Given the description of an element on the screen output the (x, y) to click on. 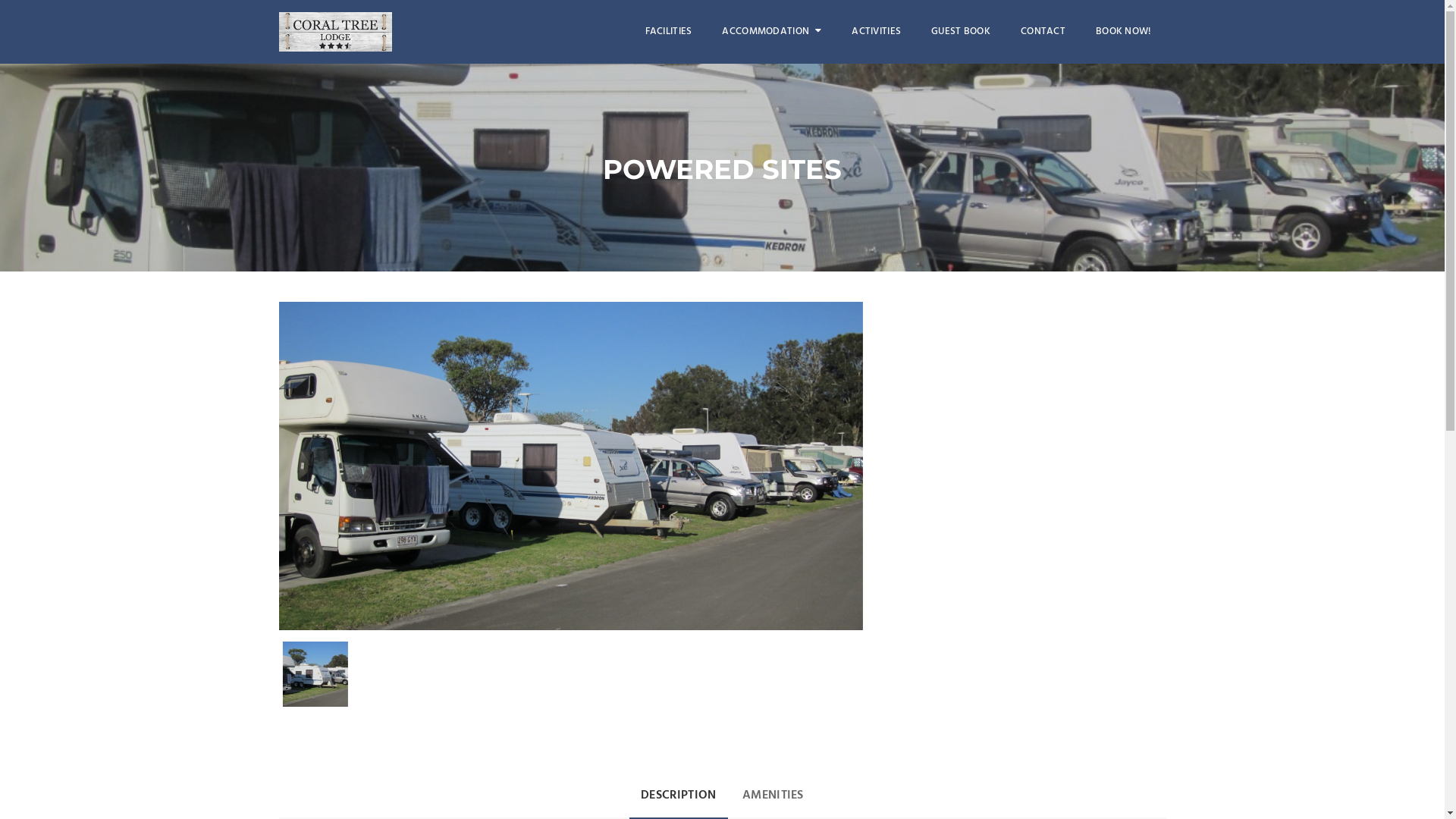
FACILITIES Element type: text (668, 31)
ACTIVITIES Element type: text (876, 31)
GUEST BOOK Element type: text (960, 31)
DESCRIPTION Element type: text (678, 795)
CONTACT Element type: text (1042, 31)
AMENITIES Element type: text (773, 795)
BOOK NOW! Element type: text (1123, 31)
ACCOMMODATION Element type: text (771, 31)
